Given the description of an element on the screen output the (x, y) to click on. 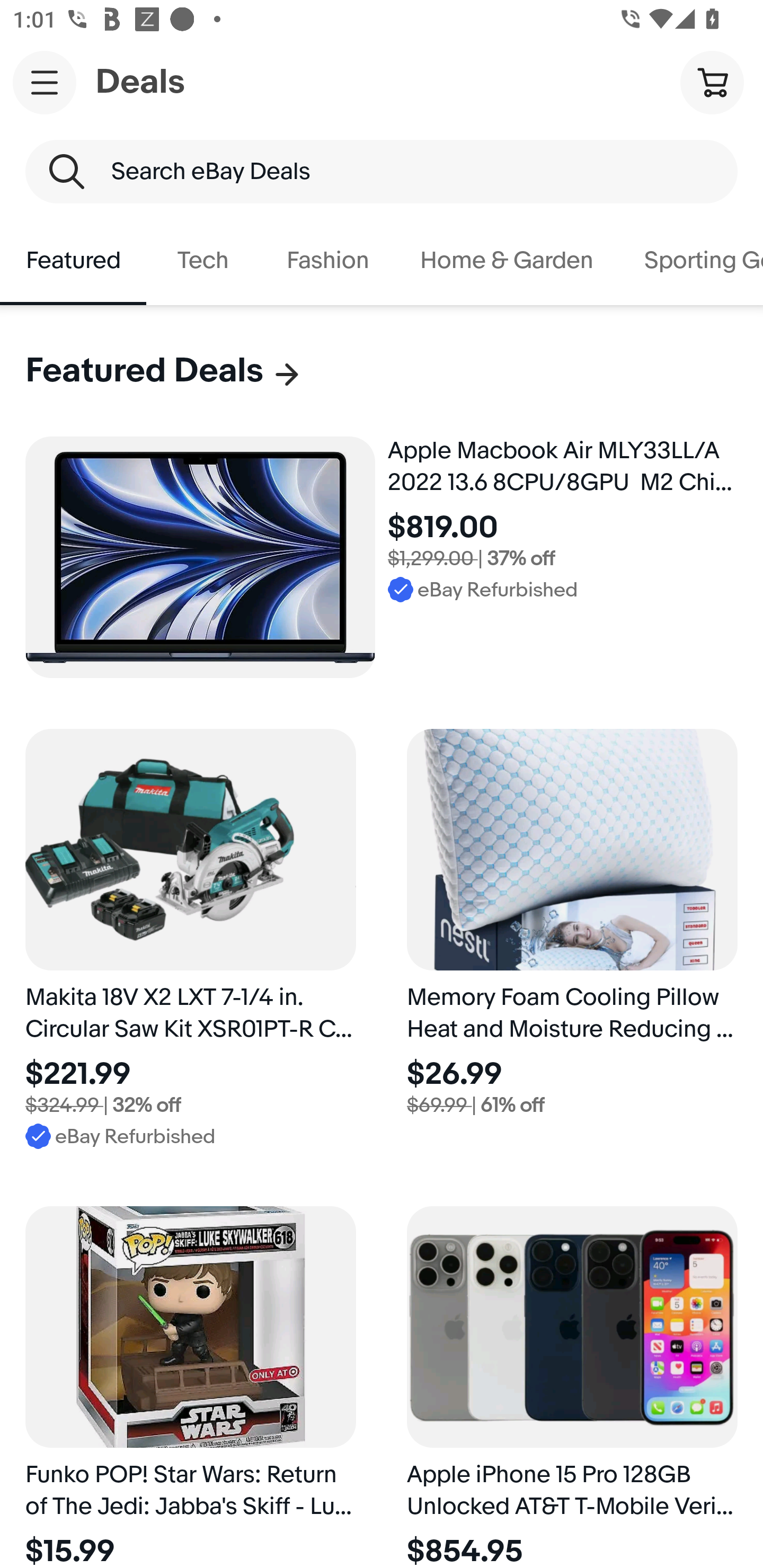
Main navigation, open (44, 82)
Cart button shopping cart (711, 81)
Search eBay Deals Search Keyword Search eBay Deals (381, 171)
Tech. Button. 2 of 7. Tech (203, 260)
Fashion. Button. 3 of 7. Fashion (327, 260)
Home & Garden. Button. 4 of 7. Home & Garden (506, 260)
Sporting Goods. Button. 5 of 7. Sporting Goods (690, 260)
Featured Deals   Featured Deals,7 items (163, 370)
